Given the description of an element on the screen output the (x, y) to click on. 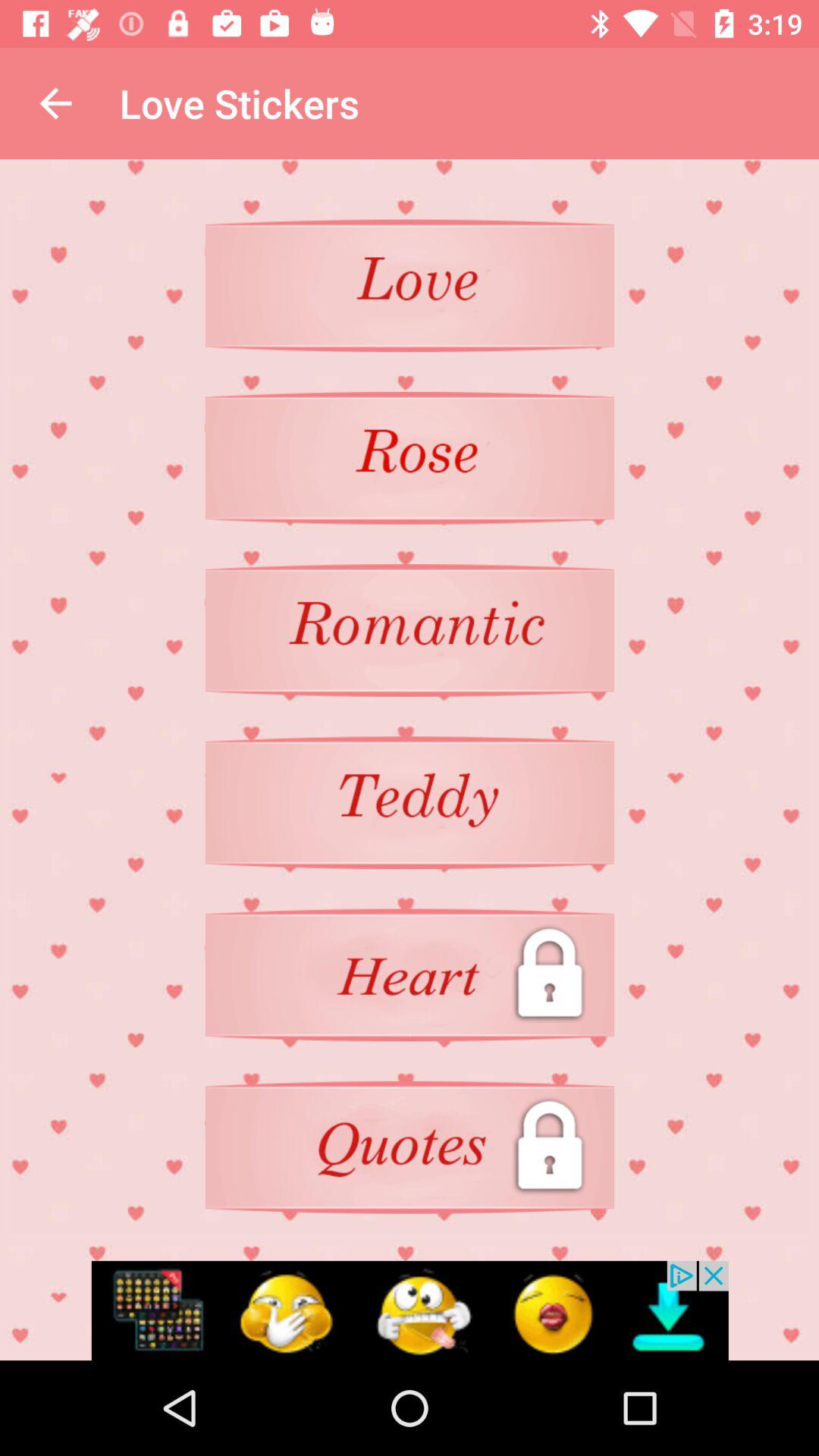
select the romantic option (409, 630)
